Given the description of an element on the screen output the (x, y) to click on. 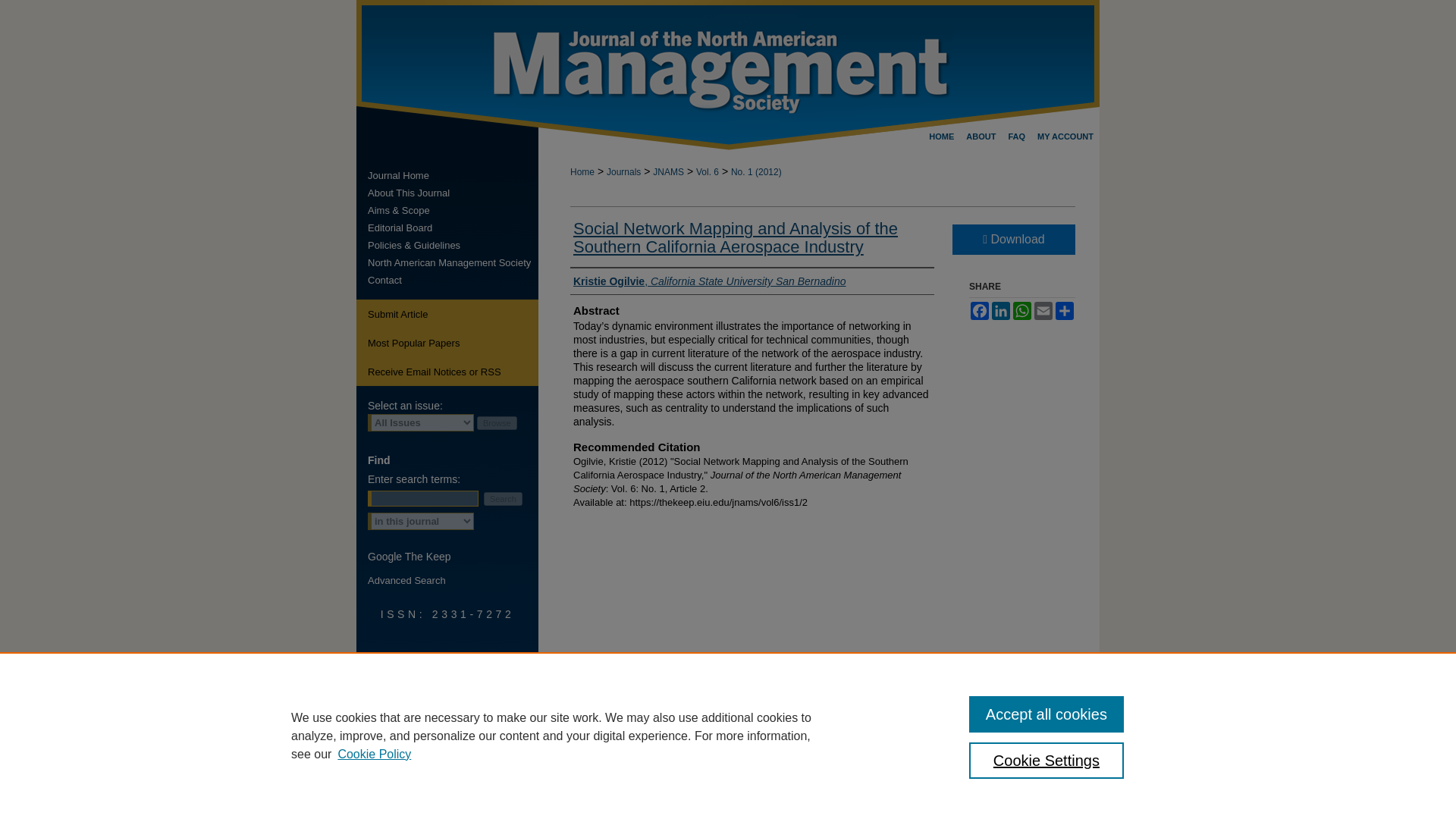
ABOUT (980, 135)
My Account (1064, 135)
Receive Email Notices or RSS (447, 371)
WhatsApp (1021, 311)
FAQ (1015, 135)
Editorial Board (453, 227)
LinkedIn (1000, 311)
Kristie Ogilvie, California State University San Bernadino (709, 281)
Journal of the North American Management Society (727, 74)
Search (502, 499)
About This Journal (453, 193)
Journal Home (453, 174)
Journal of the North American Management Society (453, 174)
